Given the description of an element on the screen output the (x, y) to click on. 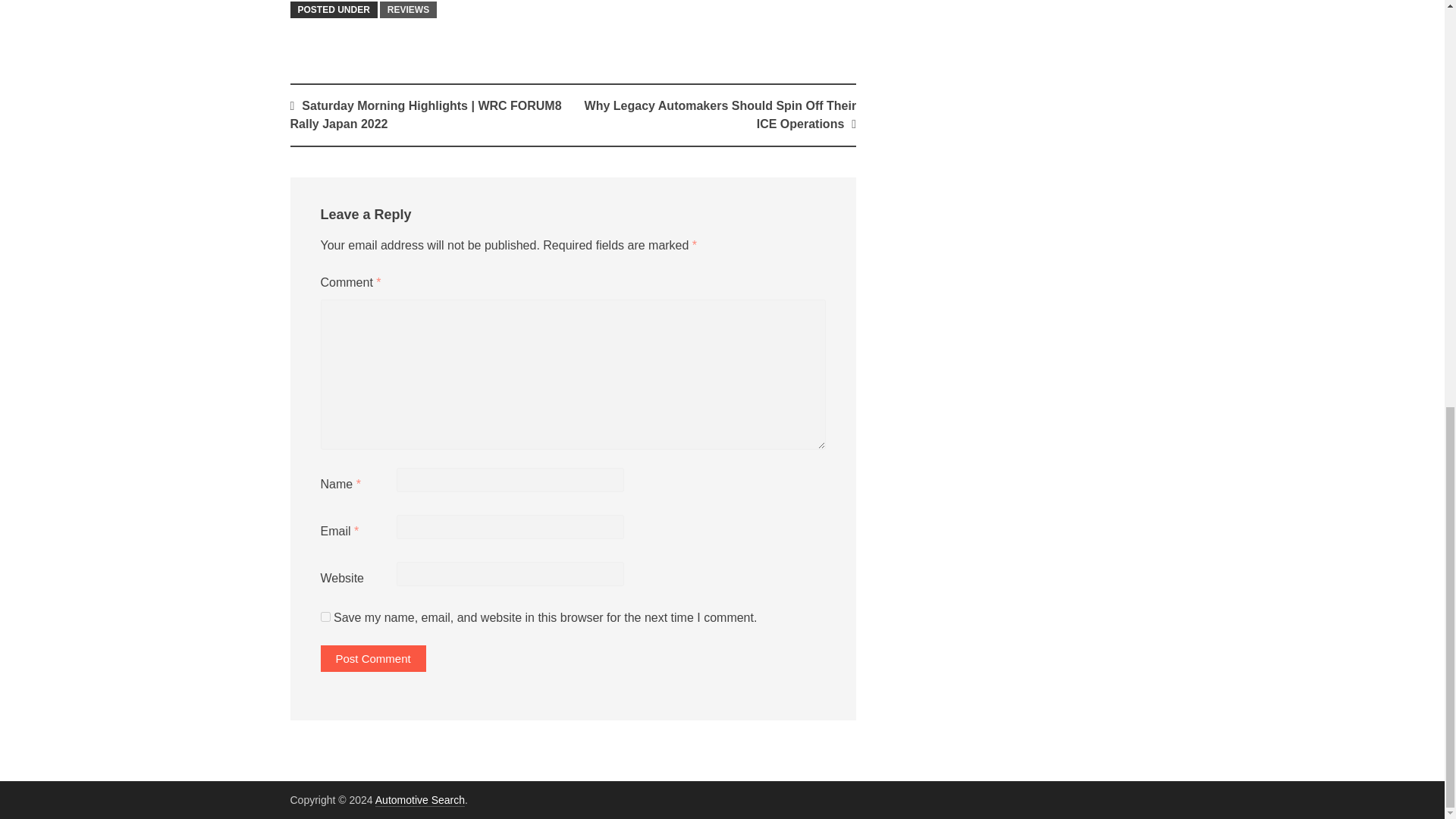
Automotive Search (419, 799)
Post Comment (372, 658)
Post Comment (372, 658)
REVIEWS (408, 9)
Why Legacy Automakers Should Spin Off Their ICE Operations (721, 114)
yes (325, 616)
Automotive Search (419, 799)
